Given the description of an element on the screen output the (x, y) to click on. 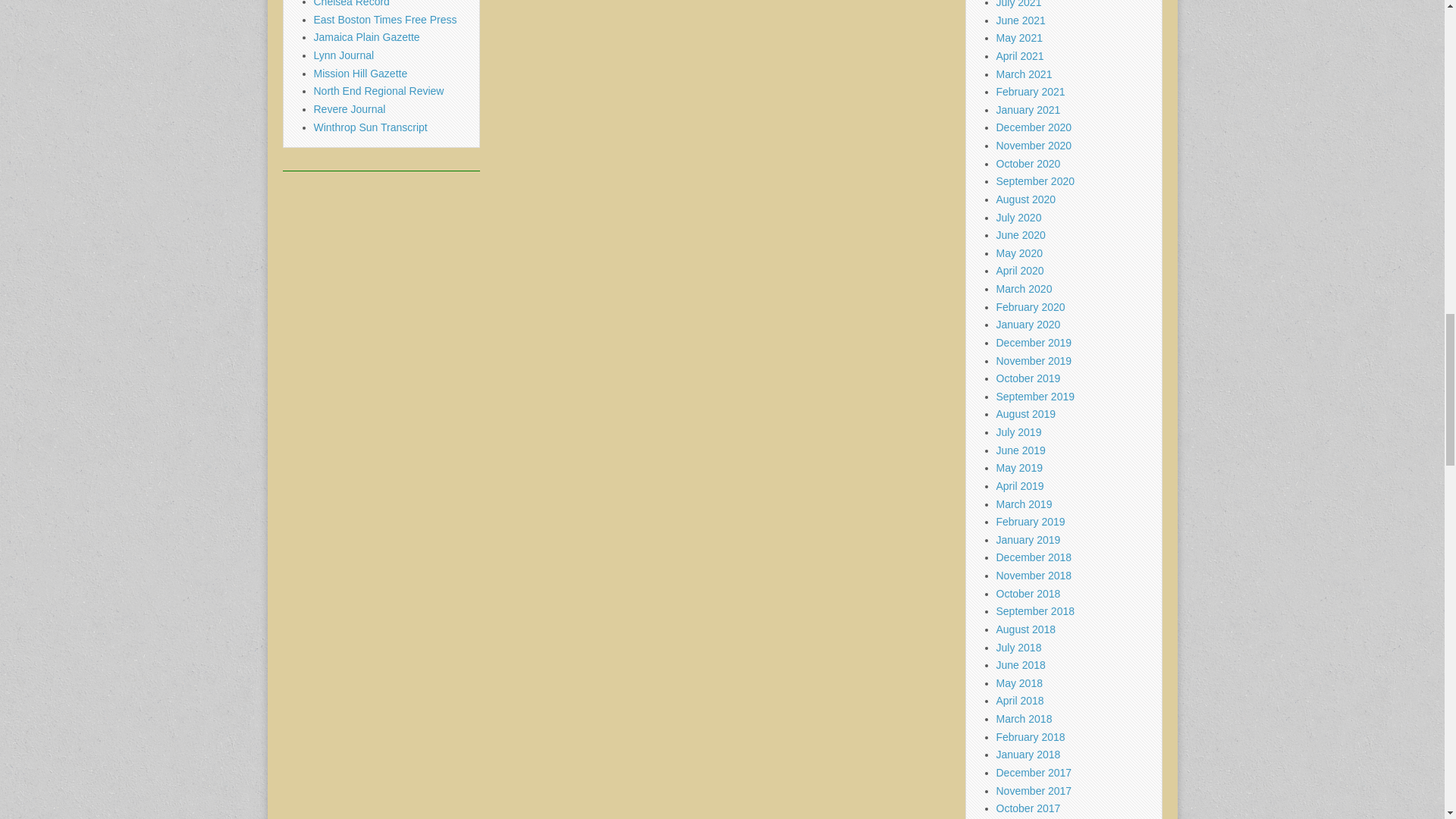
Chelsea Record (352, 3)
Lynn Journal (344, 55)
Jamaica Plain Gazette (367, 37)
East Boston Times Free Press (385, 19)
